Given the description of an element on the screen output the (x, y) to click on. 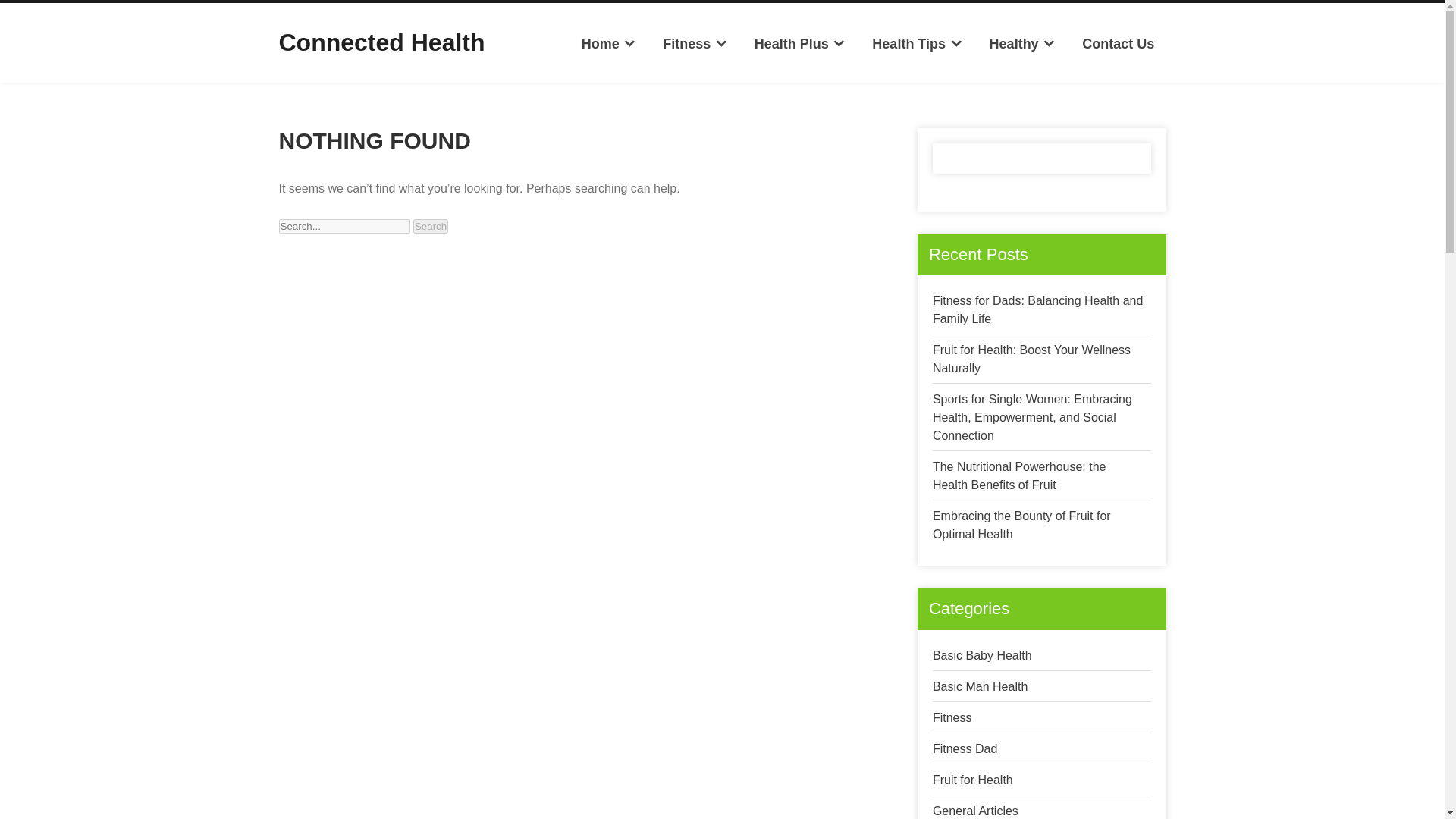
Health Tips (917, 44)
Fitness for Dads: Balancing Health and Family Life (1037, 309)
Search (430, 226)
Healthy (1021, 44)
Contact Us (1118, 44)
Connected Health (381, 42)
Search (430, 226)
Fitness (694, 44)
Home (608, 44)
Search (430, 226)
